Given the description of an element on the screen output the (x, y) to click on. 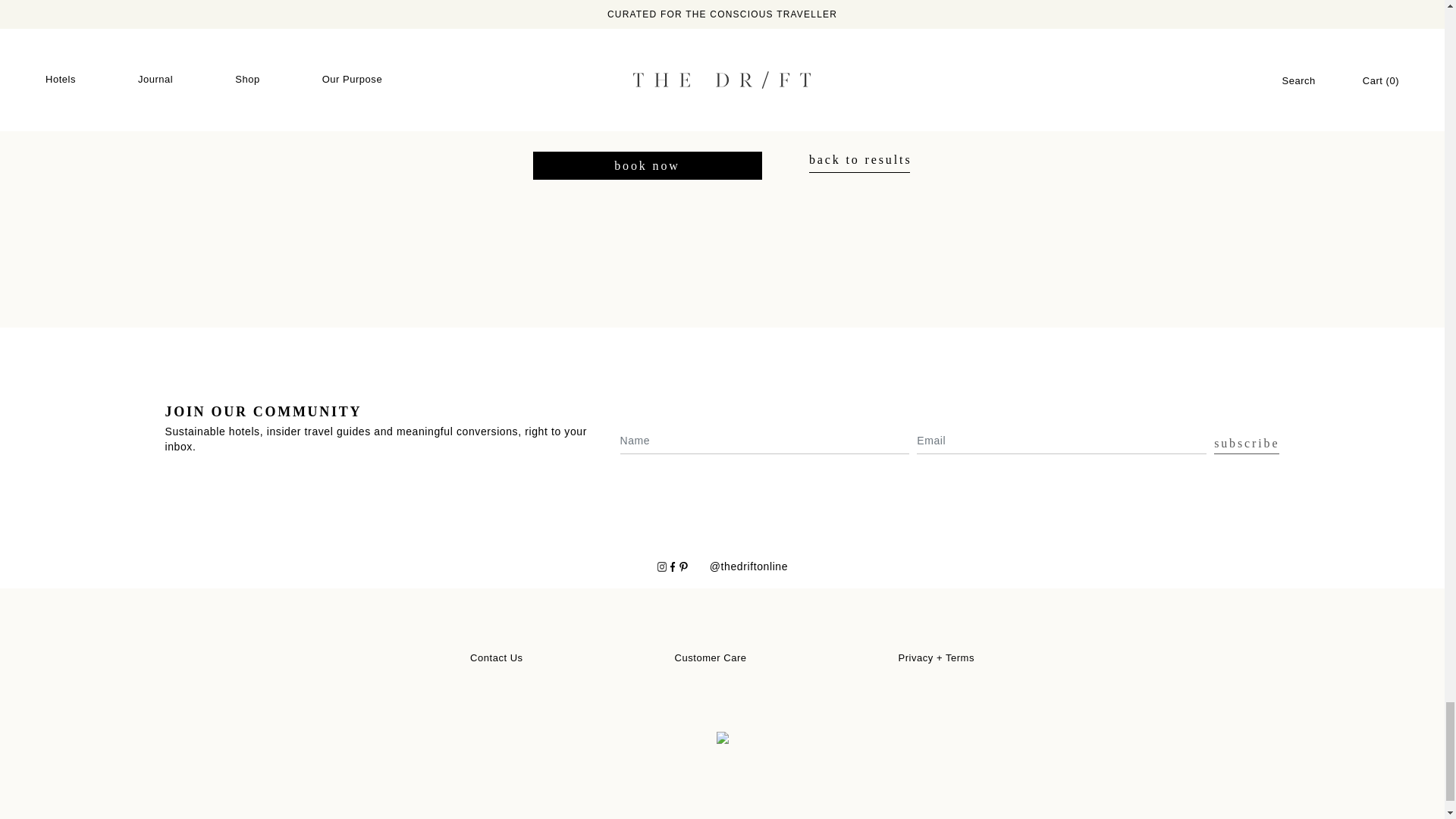
back to results (860, 159)
book now (646, 165)
Contour One Piece (301, 17)
